Given the description of an element on the screen output the (x, y) to click on. 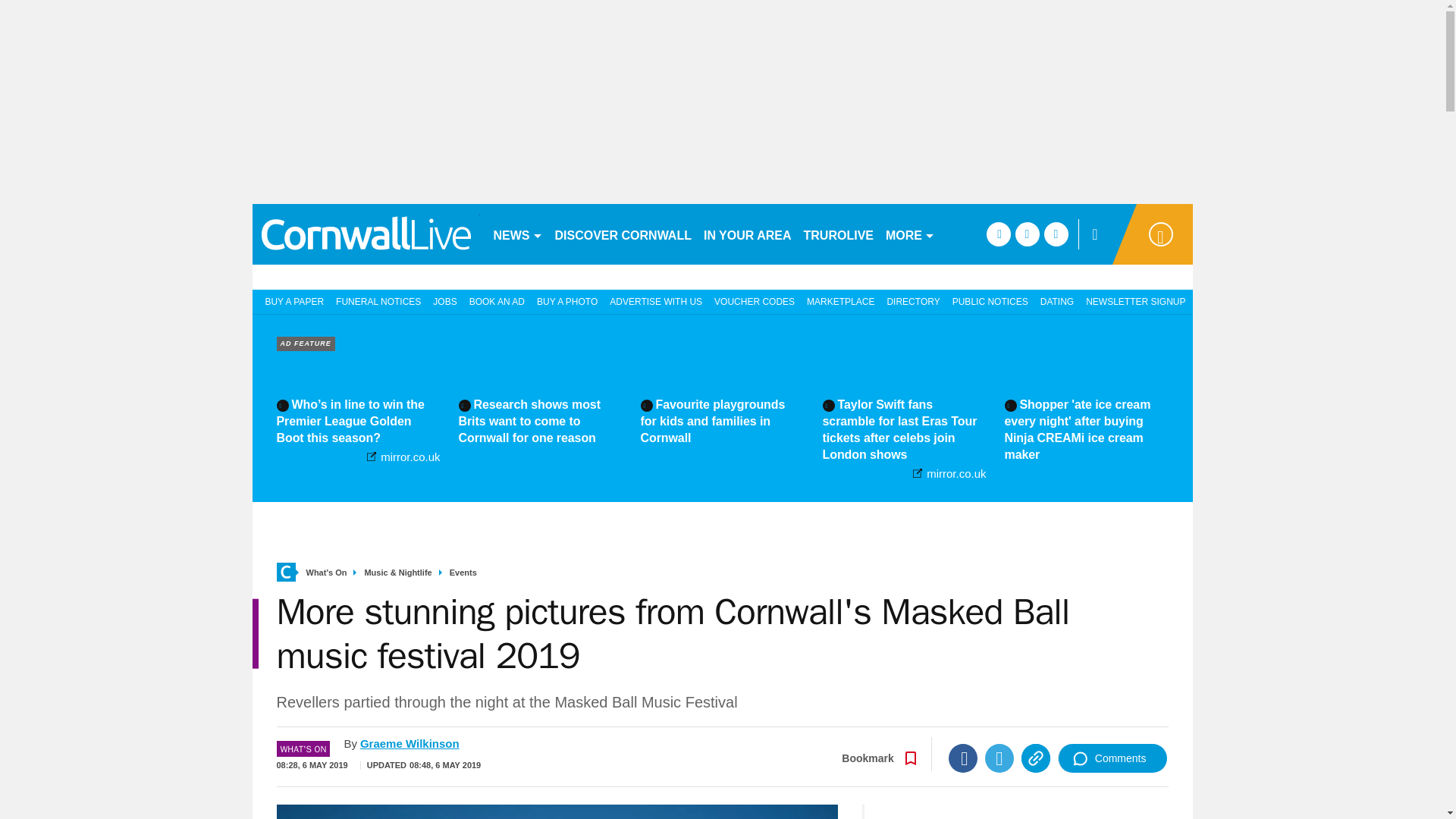
twitter (1026, 233)
TRUROLIVE (838, 233)
Comments (1112, 758)
Facebook (962, 758)
facebook (997, 233)
IN YOUR AREA (747, 233)
instagram (1055, 233)
DISCOVER CORNWALL (622, 233)
NEWS (517, 233)
MORE (909, 233)
